Given the description of an element on the screen output the (x, y) to click on. 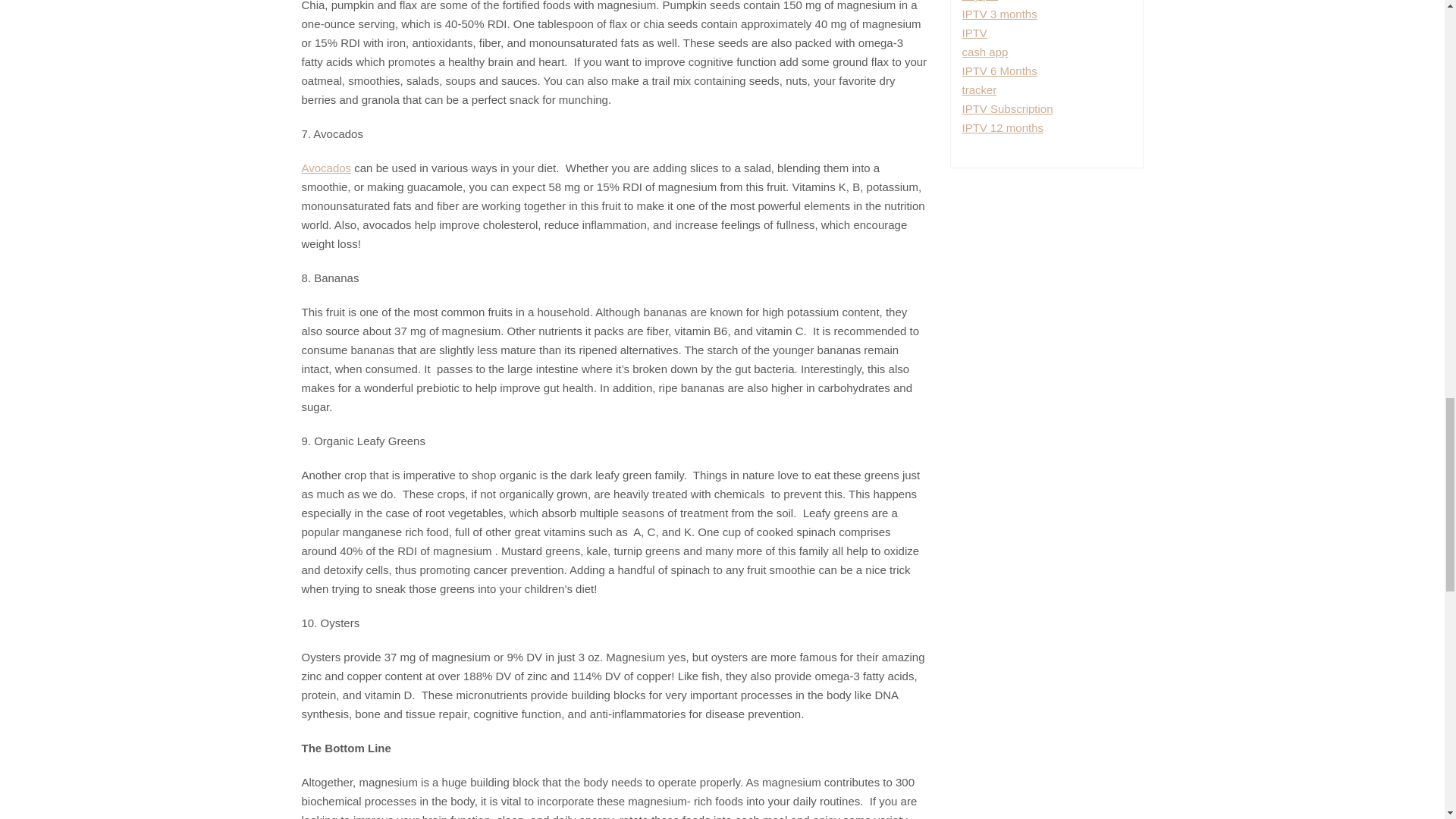
Avocados (326, 167)
